Given the description of an element on the screen output the (x, y) to click on. 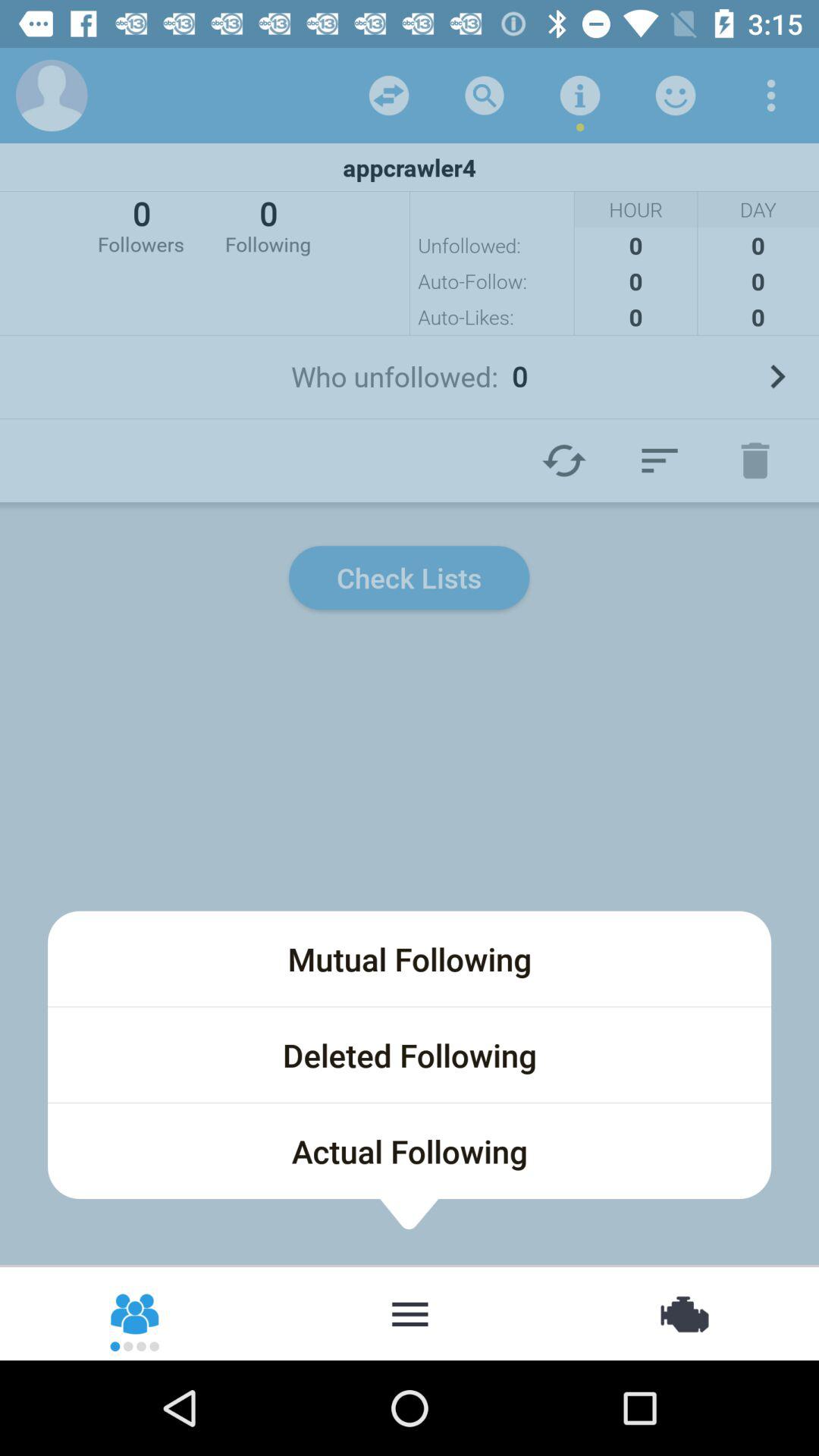
go to the next page (777, 376)
